Given the description of an element on the screen output the (x, y) to click on. 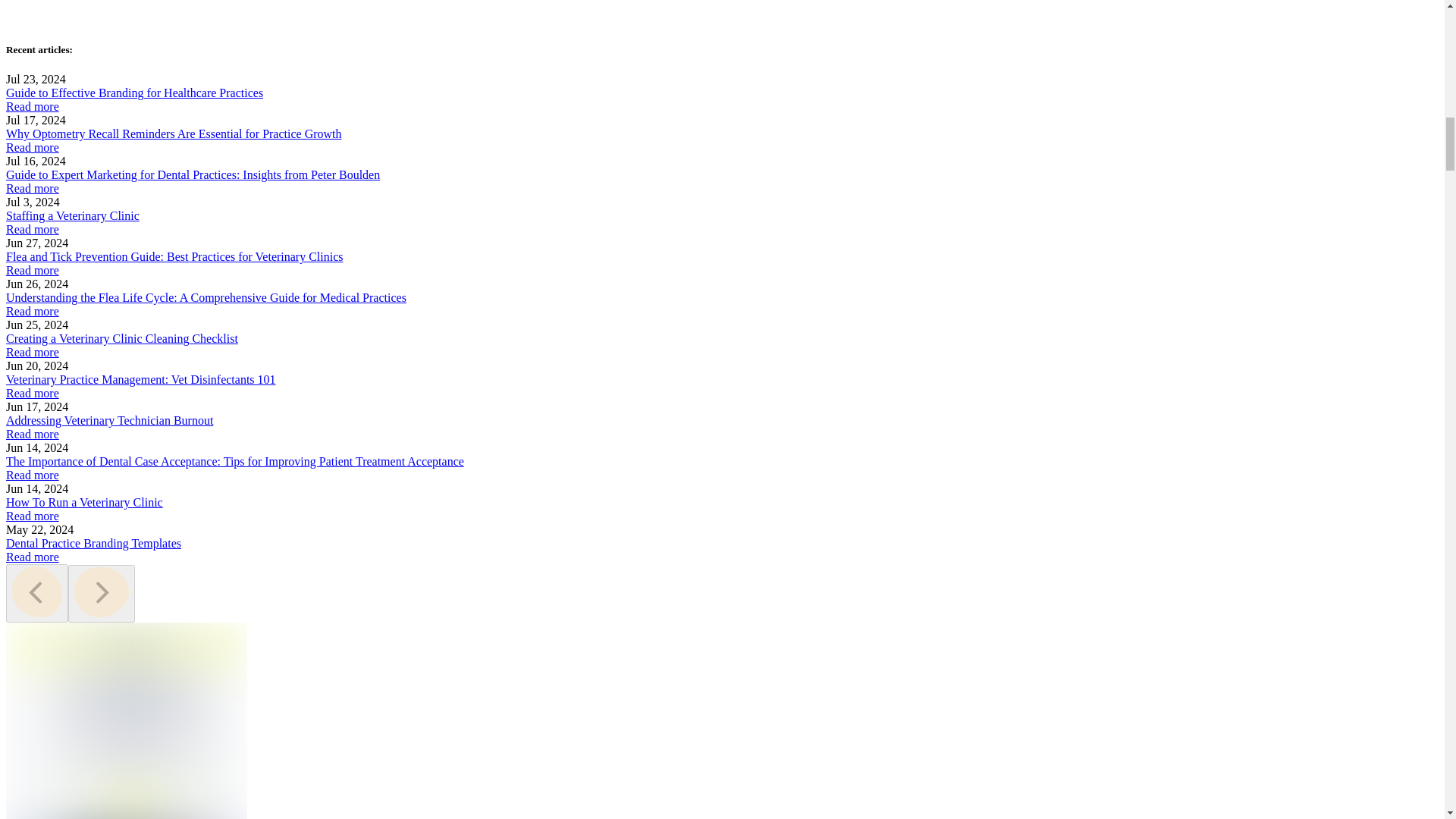
Read more (32, 269)
Read more (32, 146)
Creating a Veterinary Clinic Cleaning Checklist (121, 338)
Read more (32, 228)
Staffing a Veterinary Clinic (72, 215)
Read more (32, 392)
Read more (32, 433)
Read more (32, 187)
Addressing Veterinary Technician Burnout (108, 420)
Veterinary Practice Management: Vet Disinfectants 101 (140, 379)
Guide to Effective Branding for Healthcare Practices (134, 92)
